Given the description of an element on the screen output the (x, y) to click on. 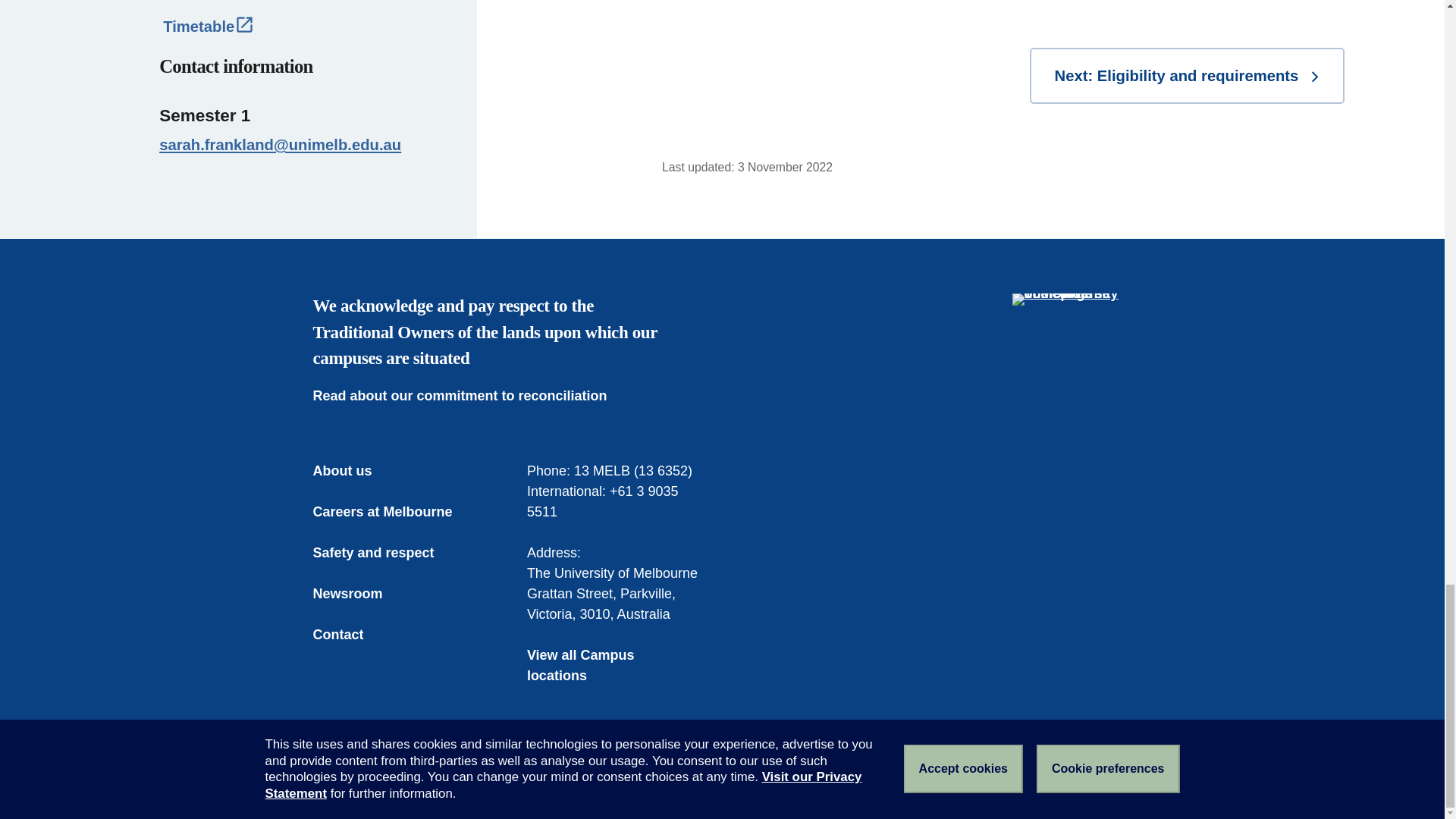
Accessibility (532, 780)
Newsroom (358, 593)
Careers at Melbourne (393, 512)
Privacy (604, 780)
About us (353, 471)
View all Campus locations (615, 665)
Emergency (345, 780)
Safety and respect (384, 552)
Contact (349, 634)
Read about our commitment to reconciliation (470, 395)
Next: Eligibility and requirements (1186, 75)
